Given the description of an element on the screen output the (x, y) to click on. 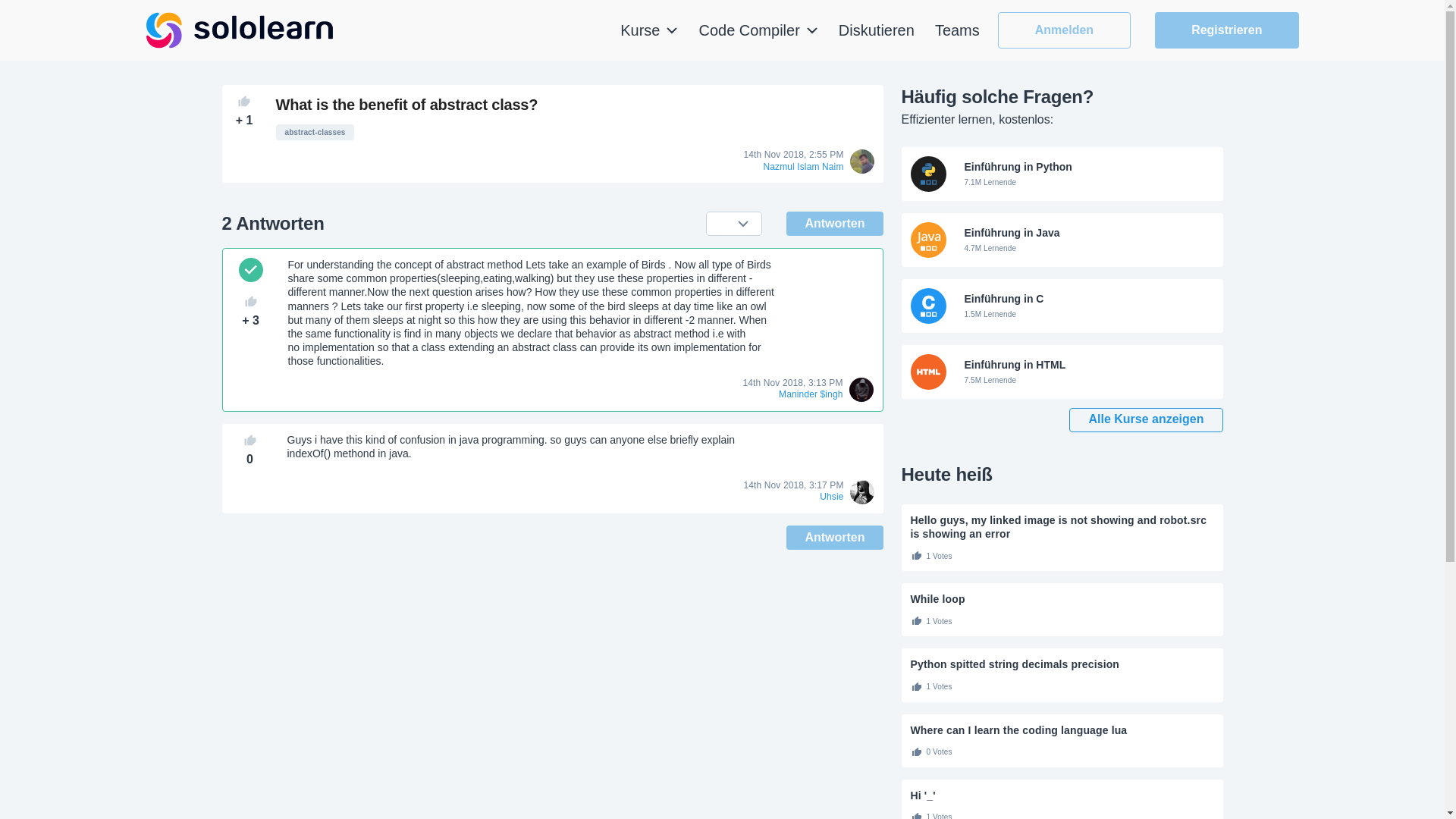
Registrieren (1226, 30)
Anmelden (1064, 30)
Antworten (834, 223)
Diskutieren (876, 30)
Python spitted string decimals precision (1061, 663)
Code Compiler (757, 29)
Antworten (834, 537)
Where can I learn the coding language lua (1061, 730)
Teams (956, 30)
Kurse (649, 29)
